Given the description of an element on the screen output the (x, y) to click on. 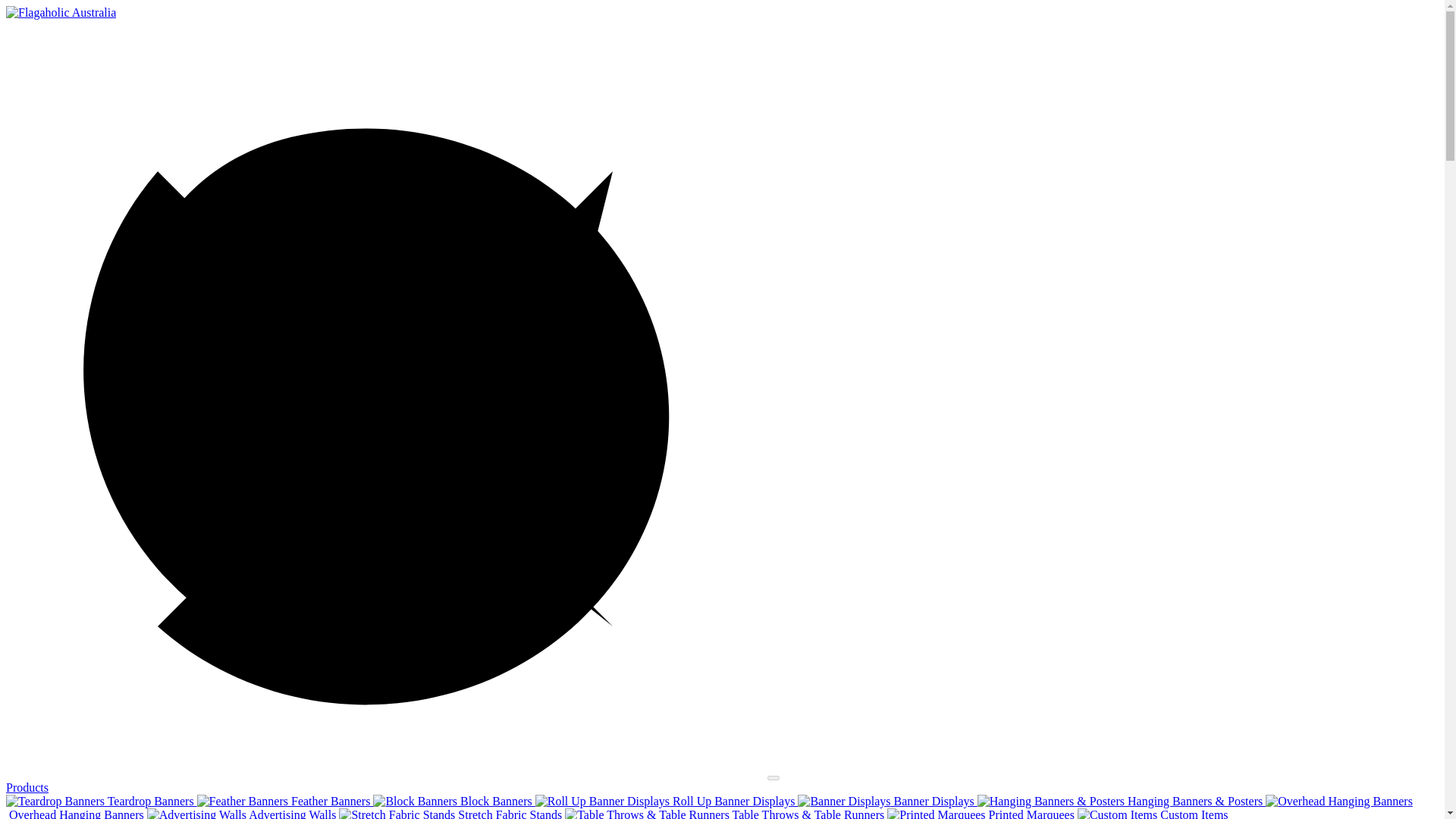
 Custom Items (1152, 813)
 Block Banners (453, 800)
Custom Items (1117, 813)
Roll Up Banner Displays (602, 801)
Teardrop Banners (54, 801)
 Roll Up Banner Displays (666, 800)
Banner Displays (843, 801)
 Banner Displays (886, 800)
Printed Marquees (935, 813)
Block Banners (414, 801)
Products (26, 787)
 Advertising Walls (243, 813)
 Stretch Fabric Stands (451, 813)
Advertising Walls (196, 813)
 Feather Banners (285, 800)
